Given the description of an element on the screen output the (x, y) to click on. 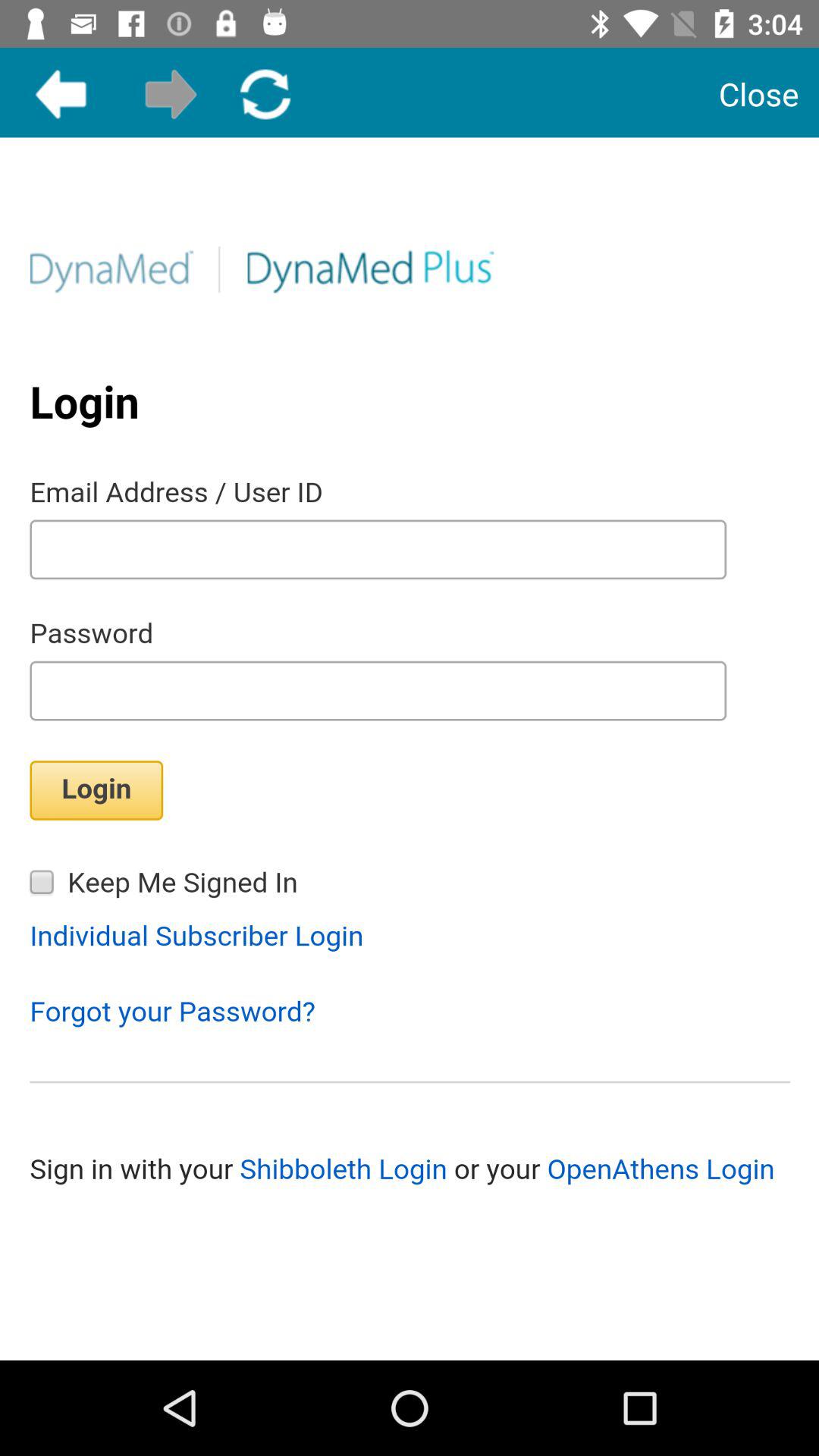
refresh (265, 94)
